Given the description of an element on the screen output the (x, y) to click on. 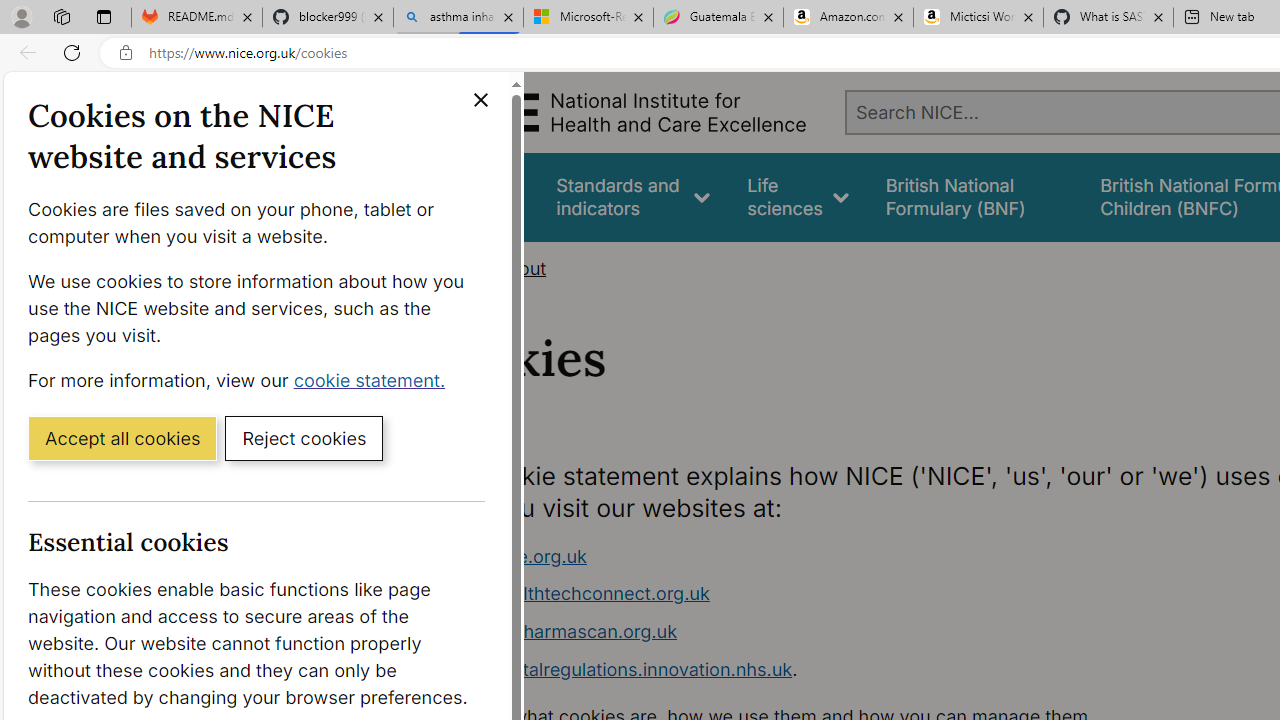
www.digitalregulations.innovation.nhs.uk. (818, 669)
false (974, 196)
www.healthtechconnect.org.uk (576, 593)
cookie statement. (Opens in a new window) (373, 379)
Home> (456, 268)
